Given the description of an element on the screen output the (x, y) to click on. 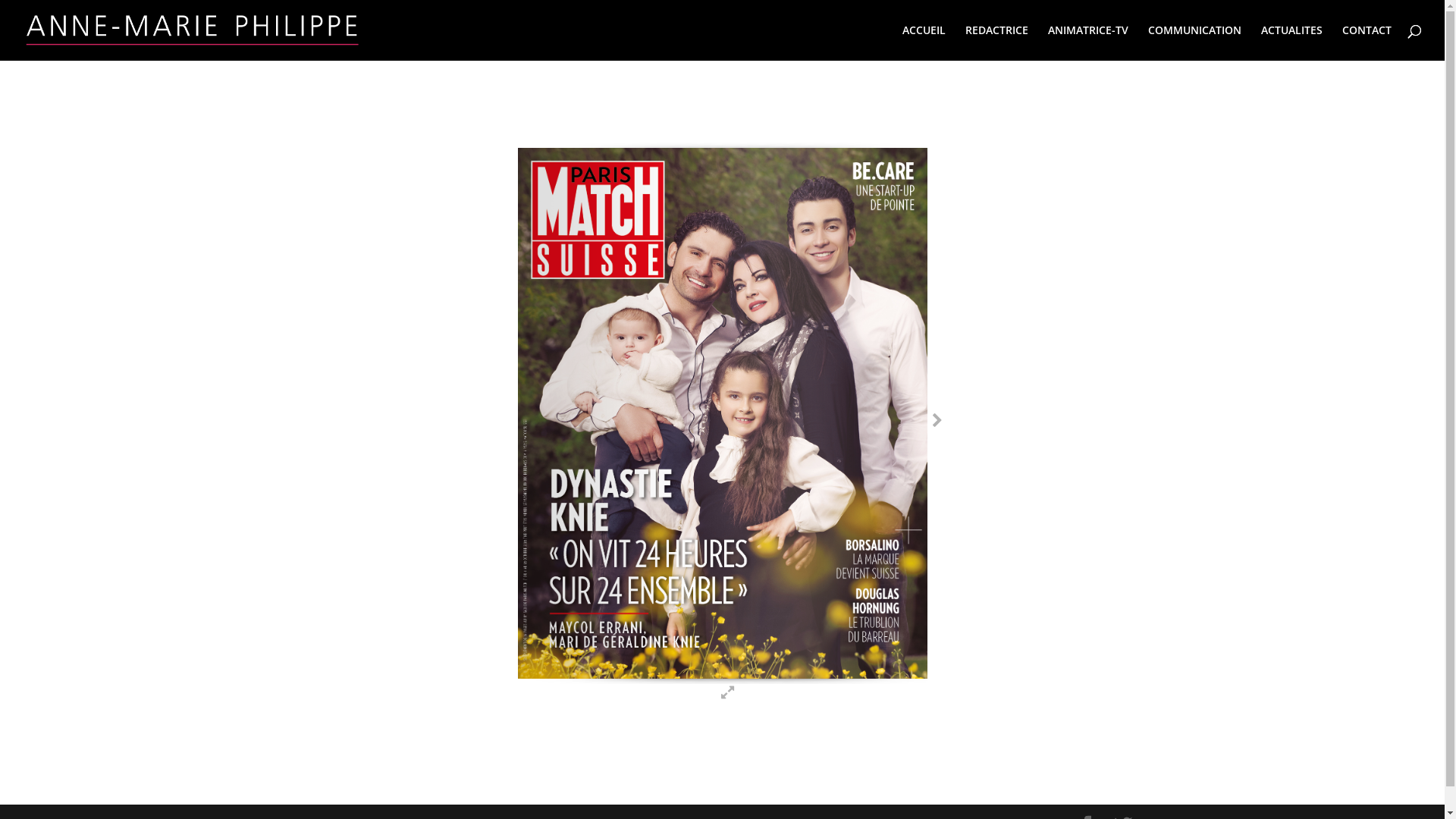
ACCUEIL Element type: text (923, 42)
COMMUNICATION Element type: text (1194, 42)
ANIMATRICE-TV Element type: text (1088, 42)
REDACTRICE Element type: text (996, 42)
CONTACT Element type: text (1366, 42)
ACTUALITES Element type: text (1291, 42)
